Given the description of an element on the screen output the (x, y) to click on. 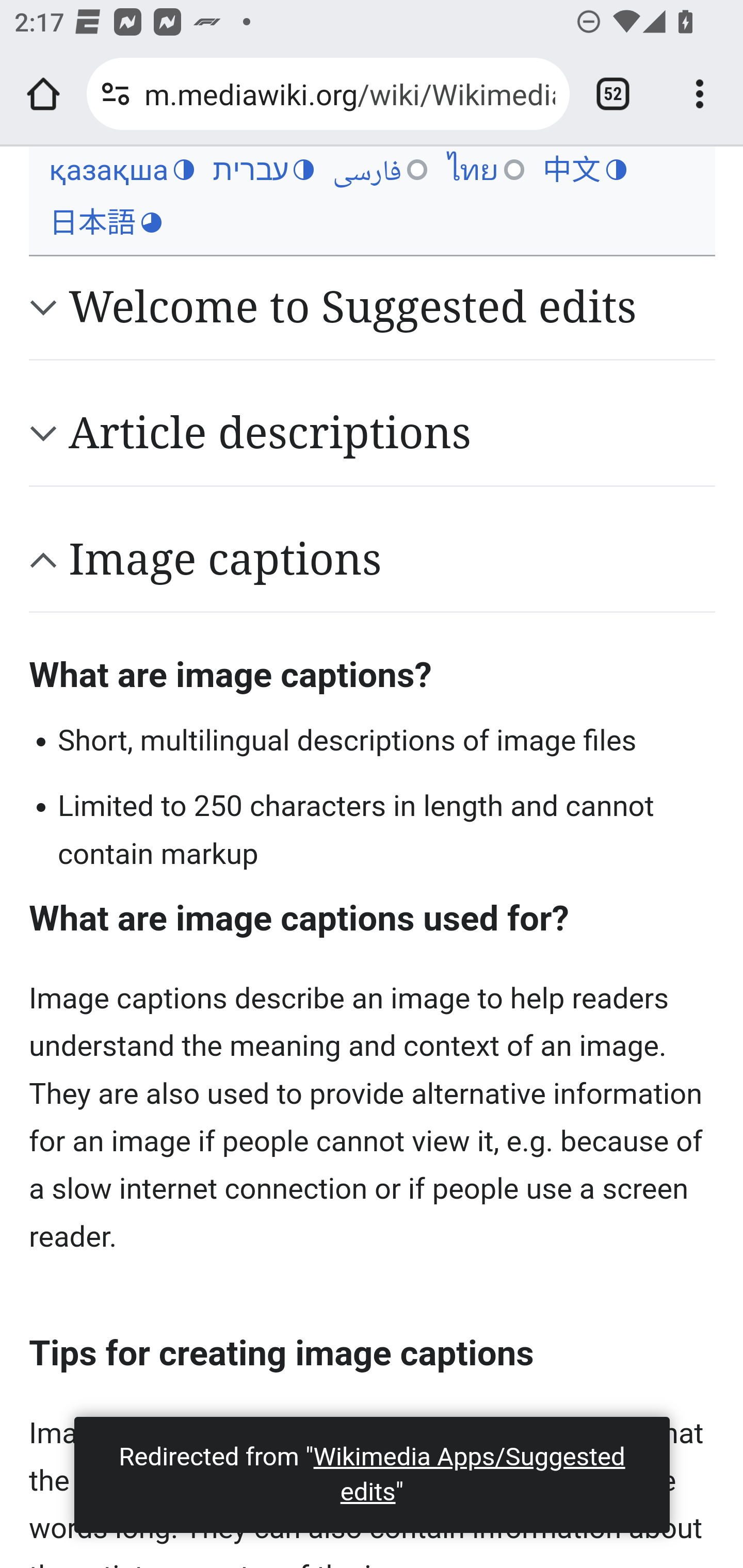
Open the home page (43, 93)
Connection is secure (115, 93)
Switch or close tabs (612, 93)
Customize and control Google Chrome (699, 93)
қазақша (121, 170)
עברית (263, 170)
فارسی (379, 170)
ไทย (484, 170)
中文 (583, 170)
日本語 (105, 222)
Welcome to Suggested edits (392, 306)
Article descriptions (392, 433)
Image captions (392, 558)
Wikimedia Apps/Suggested edits (469, 1473)
